Given the description of an element on the screen output the (x, y) to click on. 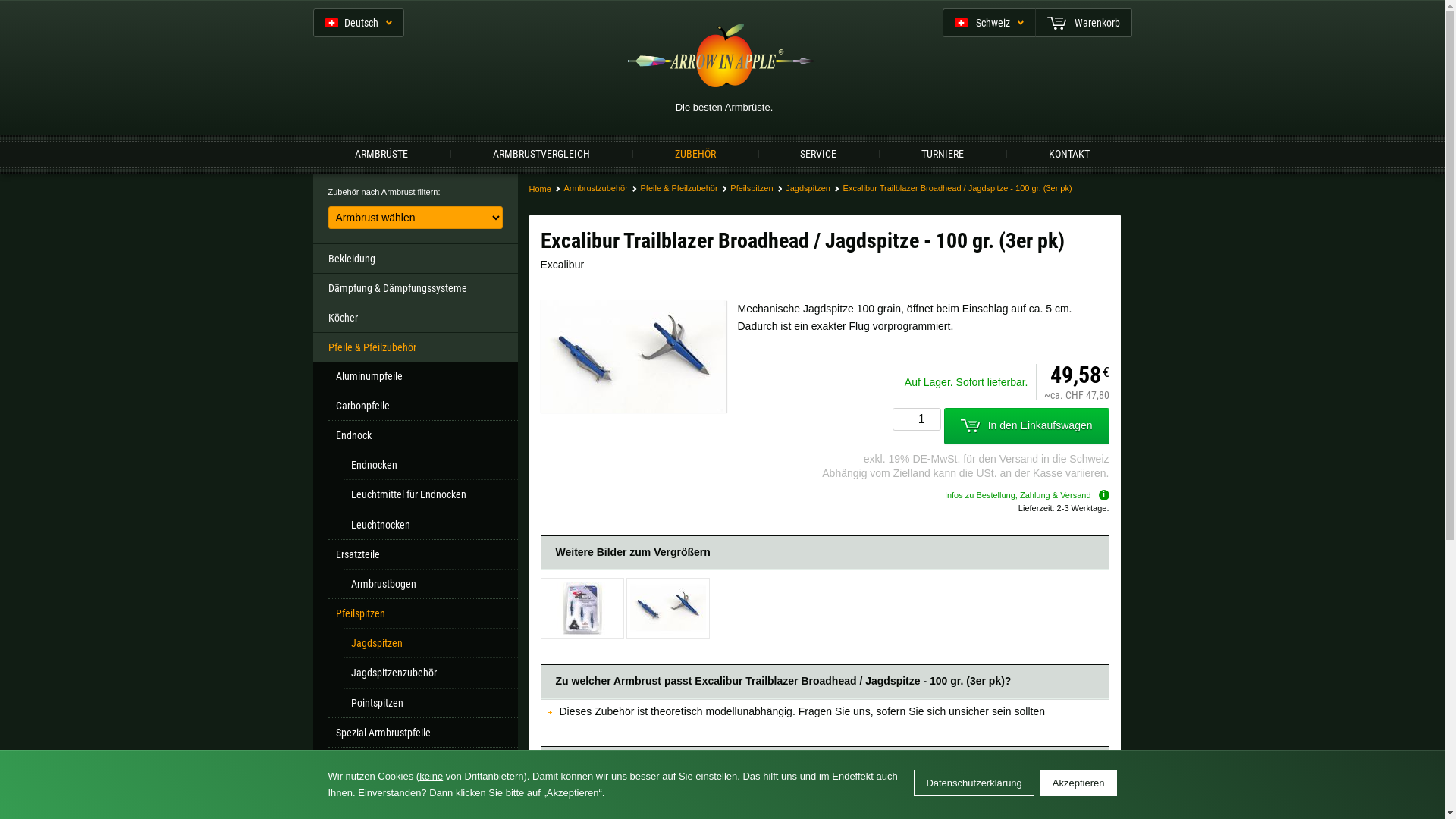
fr Element type: text (1063, 234)
Home Element type: text (540, 187)
it Element type: text (380, 269)
Pointspitzen Element type: text (429, 702)
ARMBRUSTVERGLEICH Element type: text (541, 153)
Bekleidung Element type: text (414, 258)
Infos zu Bestellung, Zahlung & Versand Element type: text (1026, 494)
Pfeilspitzen Element type: text (422, 612)
Aluminumpfeile Element type: text (422, 375)
yes Element type: text (926, 406)
at Element type: text (792, 145)
bg Element type: text (517, 234)
Pflegeartikel Element type: text (414, 791)
KONTAKT Element type: text (1069, 153)
Jagdspitzen Element type: text (802, 187)
se Element type: text (517, 304)
hr Element type: text (517, 269)
fi Element type: text (926, 234)
TURNIERE Element type: text (942, 153)
lv Element type: text (653, 269)
Ersatzteile Element type: text (422, 553)
Pfeilspitzen Element type: text (746, 187)
ch Element type: text (653, 304)
Carbonpfeile Element type: text (422, 405)
Warenkorb Element type: text (1082, 22)
Schweiz Element type: text (987, 22)
Endnocken Element type: text (429, 464)
sk Element type: text (790, 304)
cz Element type: text (1063, 304)
Deutsch Element type: text (357, 22)
ch Element type: text (897, 145)
hu Element type: text (380, 339)
pt Element type: text (380, 304)
Jagdspitzen Element type: text (429, 642)
Spezial Armbrustpfeile Element type: text (422, 731)
ee Element type: text (790, 234)
si Element type: text (926, 304)
Leuchtnocken Element type: text (429, 524)
Vanes Element type: text (422, 761)
at Element type: text (1063, 269)
In den Einkaufswagen Element type: text (1026, 425)
Akzeptieren Element type: text (1078, 782)
de Element type: text (653, 234)
lt Element type: text (790, 269)
Endnock Element type: text (422, 434)
SERVICE Element type: text (818, 153)
de Element type: text (690, 145)
Armbrustbogen Element type: text (429, 583)
nl Element type: text (926, 269)
com Element type: text (594, 145)
be Element type: text (380, 234)
